Given the description of an element on the screen output the (x, y) to click on. 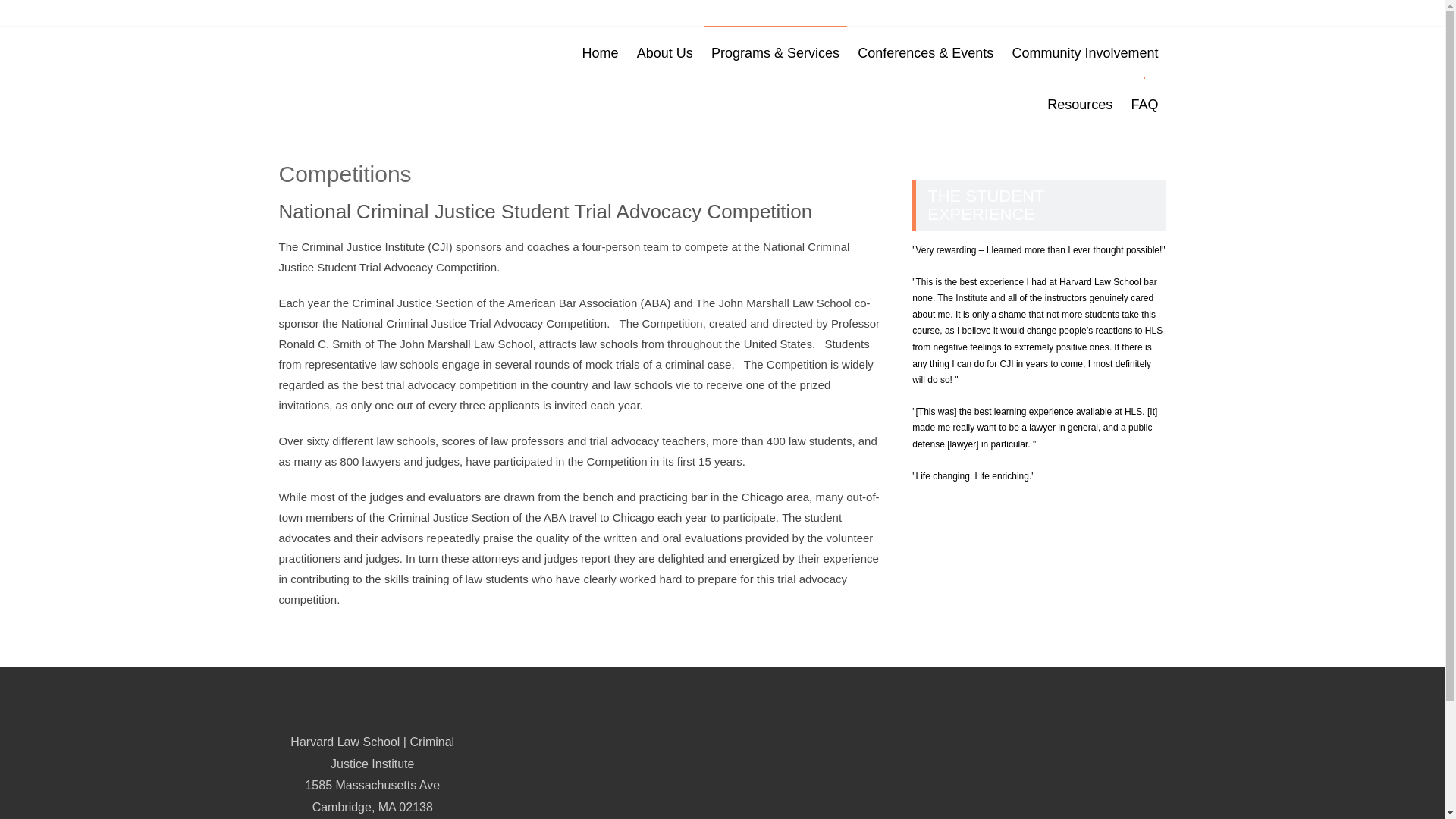
About Us (664, 52)
Resources (1079, 104)
Home (600, 52)
HARVARD LAW SCHOOL CRIMINAL JUSTICE INSTITUTE (389, 38)
Community Involvement (1085, 52)
